Given the description of an element on the screen output the (x, y) to click on. 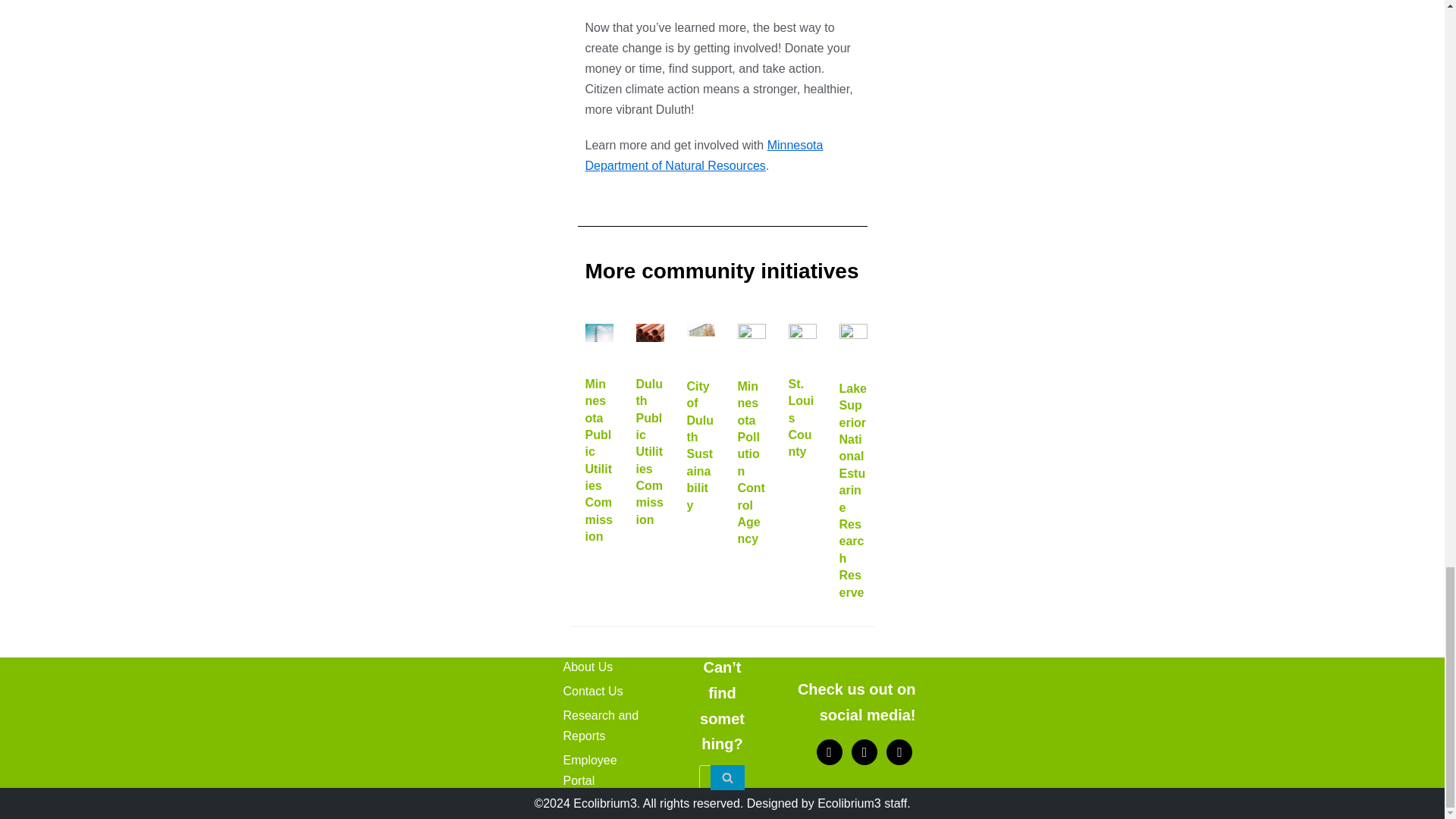
Facebook (829, 750)
Search (727, 777)
Search (727, 777)
Instagram (899, 750)
Twitter (864, 750)
